Given the description of an element on the screen output the (x, y) to click on. 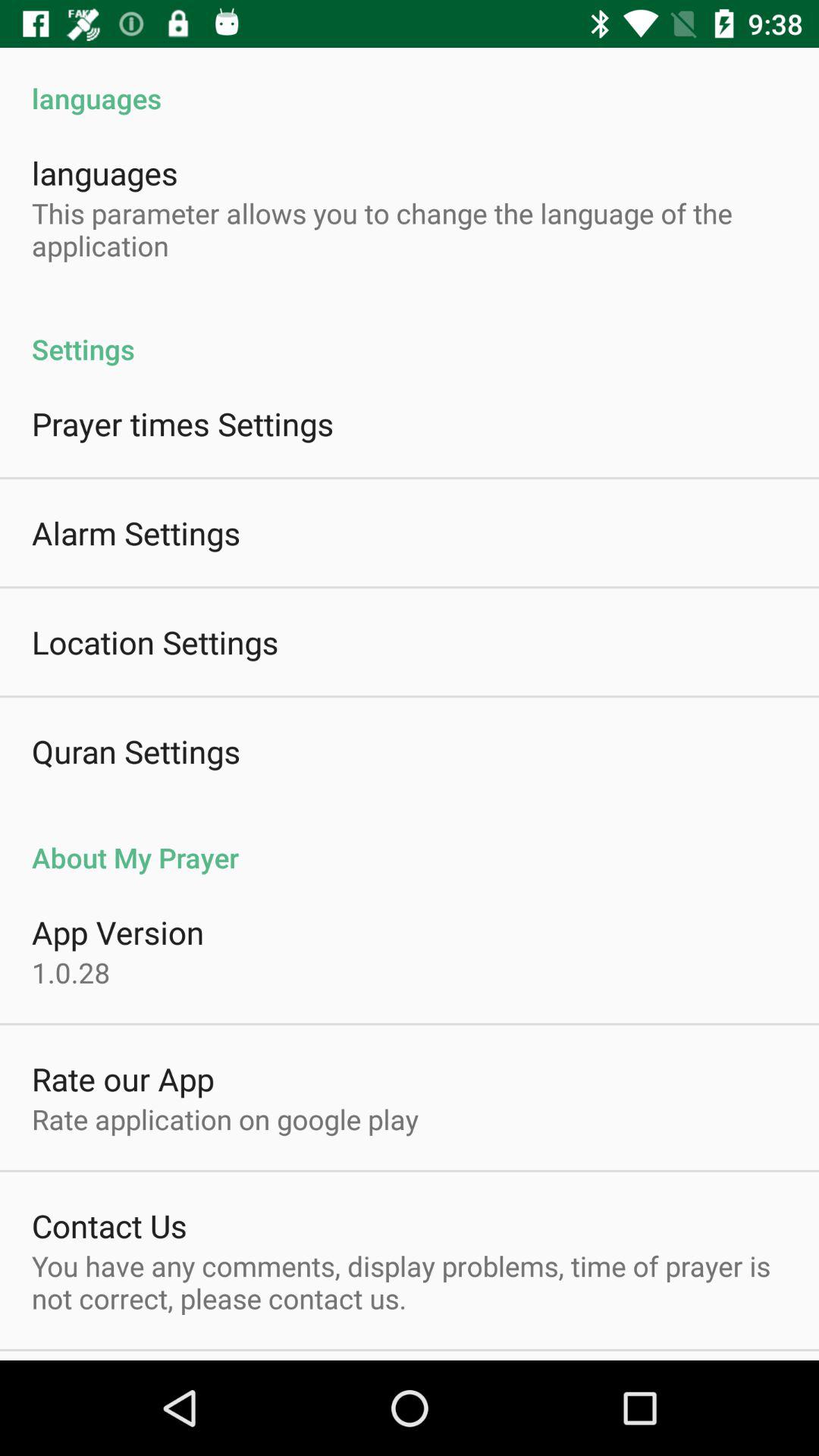
turn off the item above the about my prayer icon (135, 750)
